Given the description of an element on the screen output the (x, y) to click on. 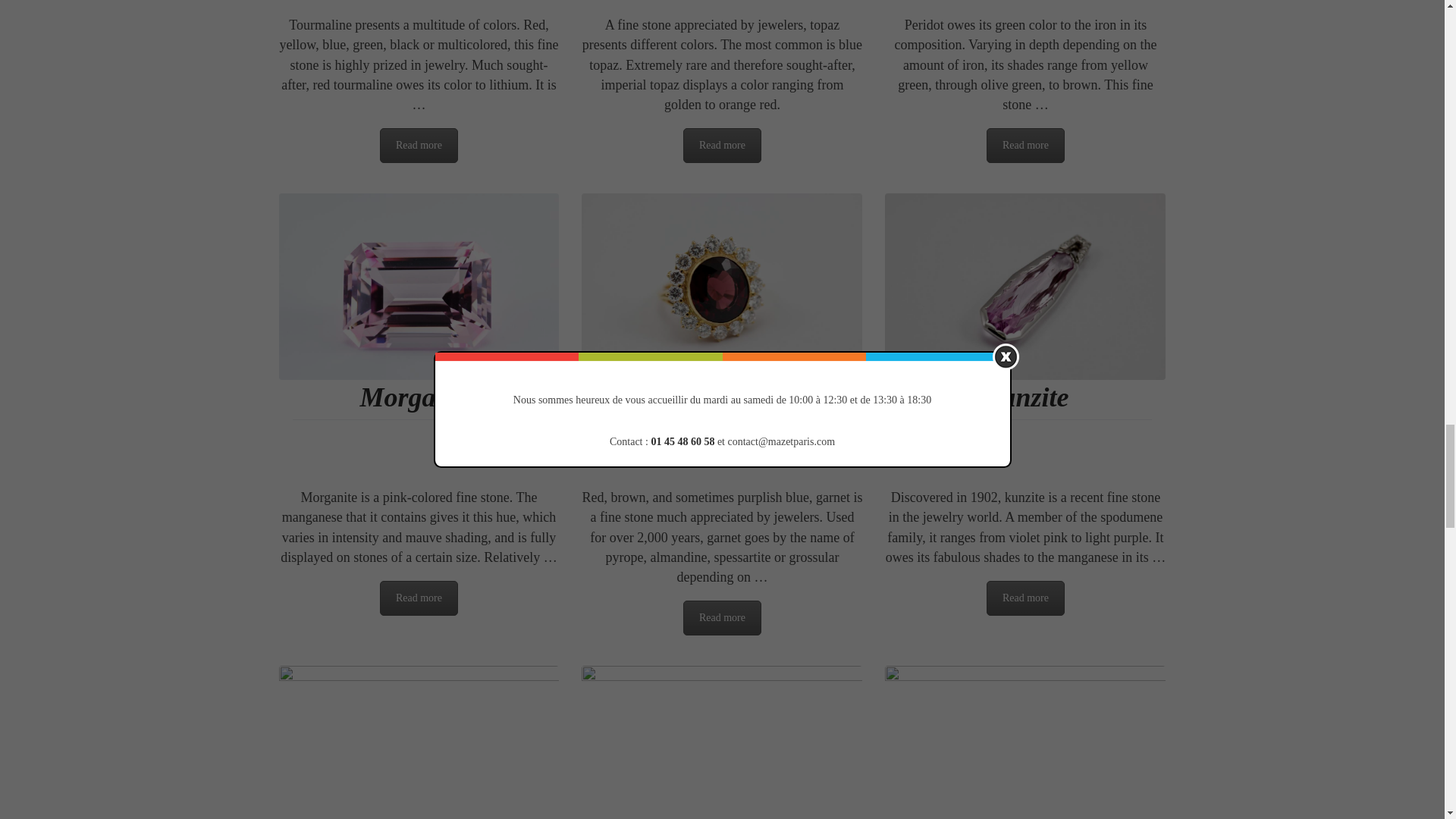
Lire la suite (721, 617)
Lire la suite (721, 144)
Lire la suite (1025, 597)
Lire la suite (419, 597)
Lire la suite (419, 144)
Lire la suite (1025, 144)
